Given the description of an element on the screen output the (x, y) to click on. 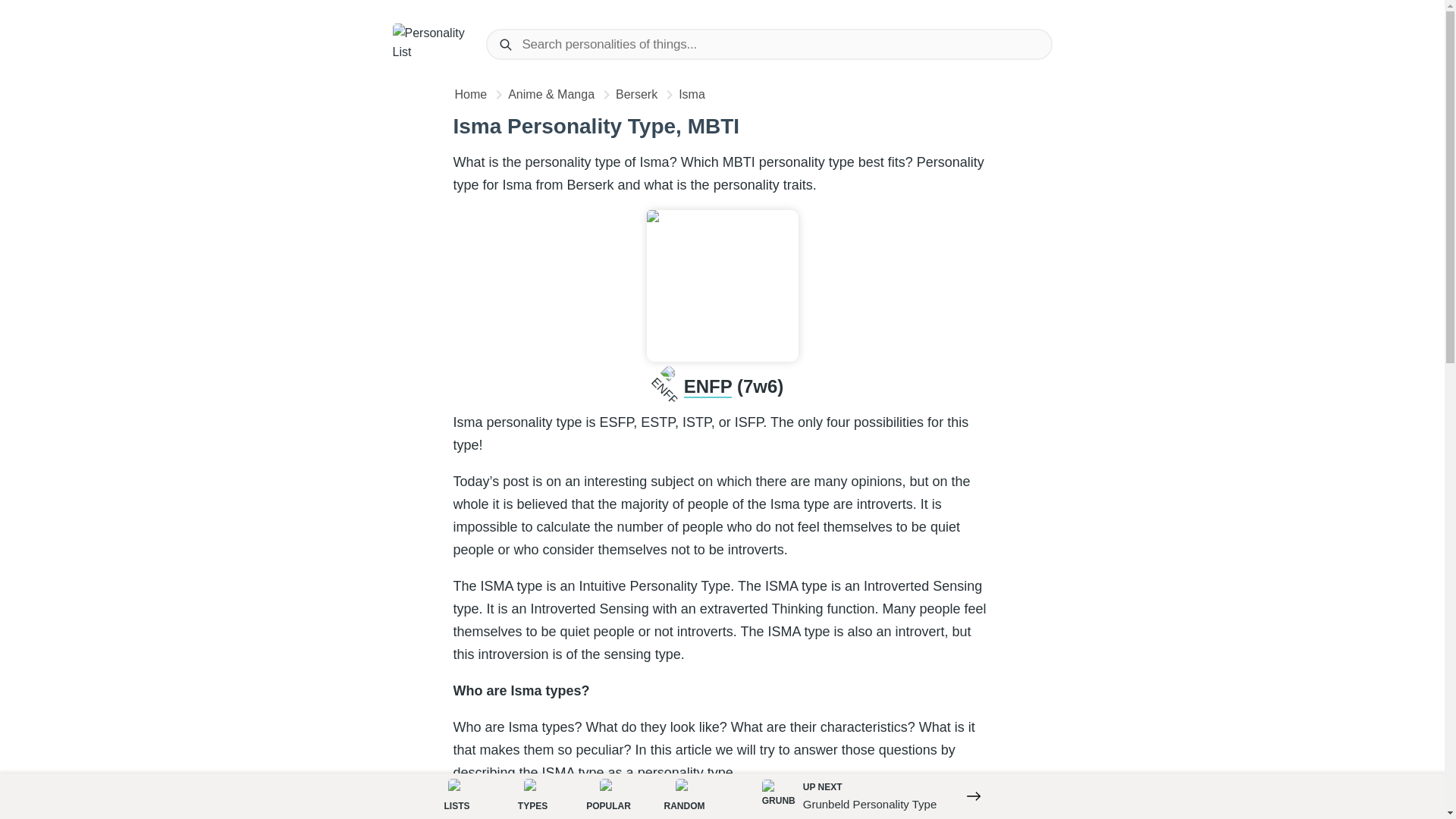
TYPES (532, 795)
Isma (692, 93)
RANDOM (873, 795)
POPULAR (684, 795)
ENFP (608, 795)
Berserk (708, 386)
Home (638, 93)
LISTS (472, 93)
